Given the description of an element on the screen output the (x, y) to click on. 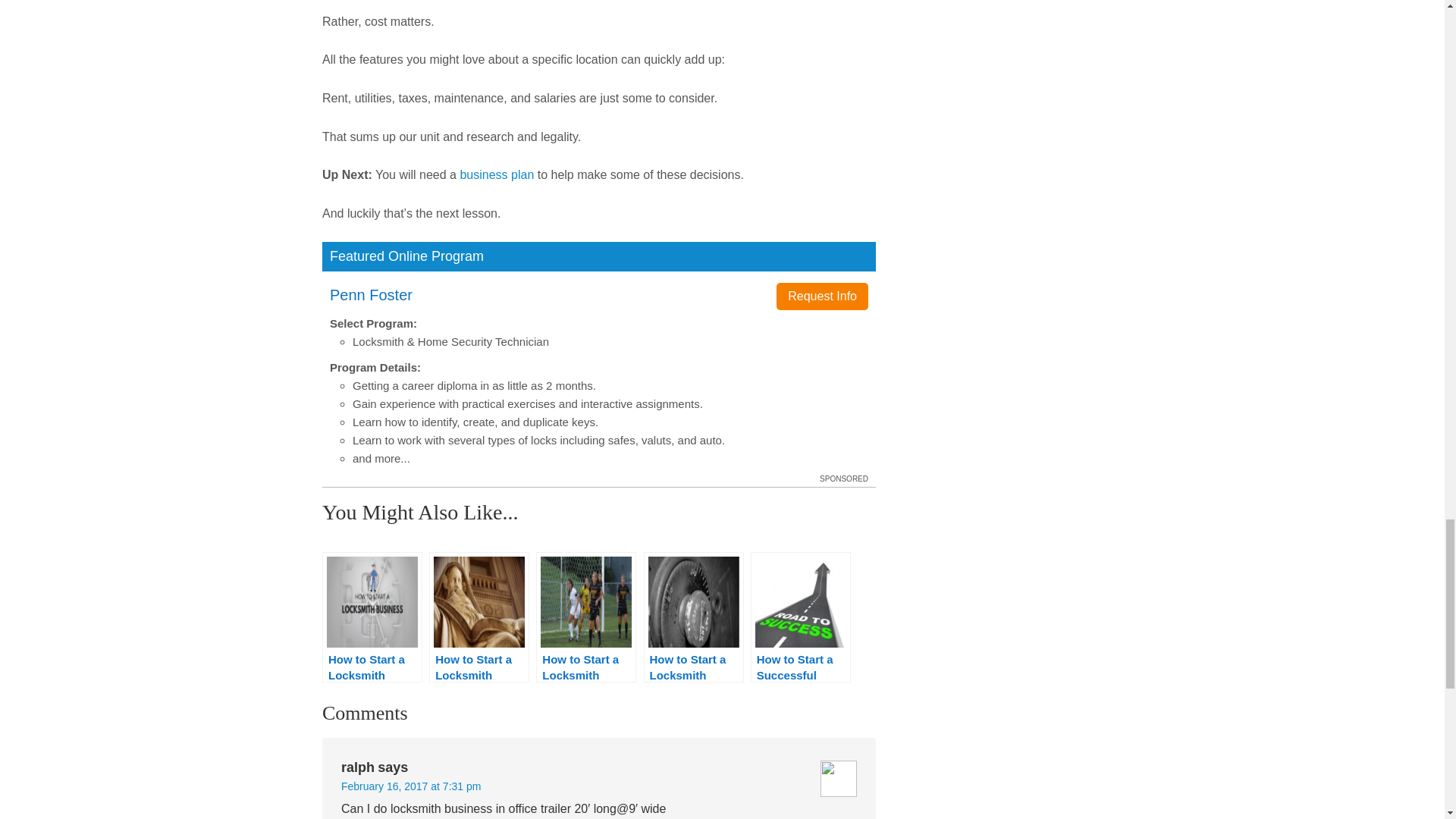
How to Start a Successful Locksmith Business (800, 617)
business plan (497, 174)
How to Start a Locksmith Business: Test Your Skills (693, 617)
How to Start a Locksmith Business: An In-depth Series (371, 617)
How to Start a Locksmith Business: Test Your Skills (693, 617)
Request Info (821, 296)
How to Start a Locksmith Business: State Laws (479, 617)
How to Start a Locksmith Business: An In-depth Series (371, 617)
Penn Foster (371, 294)
How to Start a Locksmith Business: Setting the Right Goals (585, 617)
How to Start a Locksmith Business: State Laws (479, 617)
How to Start a Successful Locksmith Business (800, 617)
How to Start a Locksmith Business: Setting the Right Goals (585, 617)
February 16, 2017 at 7:31 pm (410, 786)
